Given the description of an element on the screen output the (x, y) to click on. 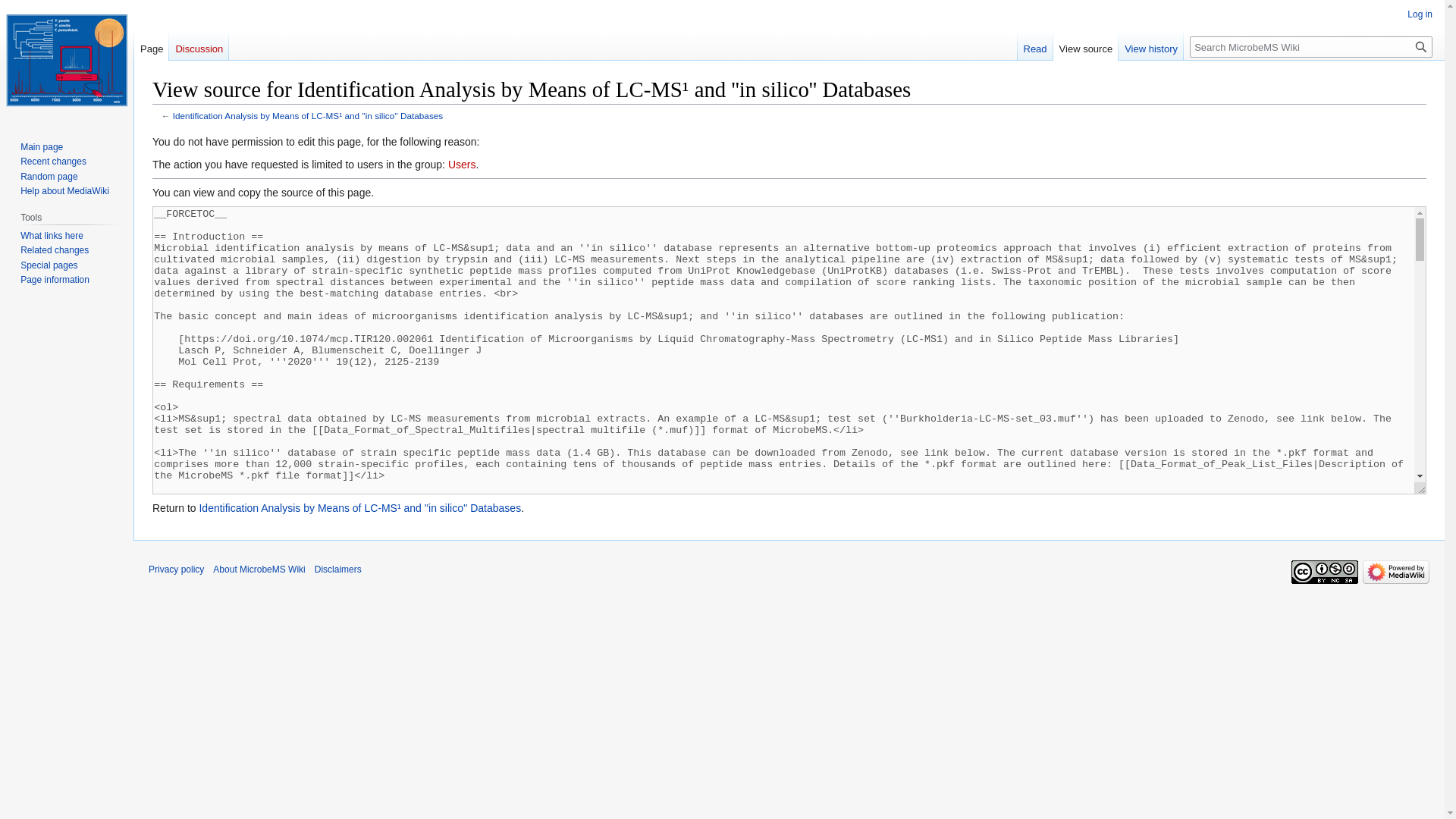
Search (1420, 46)
Log in (1419, 14)
Page (150, 45)
Discussion (198, 45)
Search the pages for this text (1420, 46)
Privacy policy (175, 569)
Main page (41, 146)
Read (1034, 45)
Search (1420, 46)
Page information (54, 279)
What links here (51, 235)
Disclaimers (337, 569)
Search (1420, 46)
Visit the main page (66, 60)
Help about MediaWiki (64, 190)
